Given the description of an element on the screen output the (x, y) to click on. 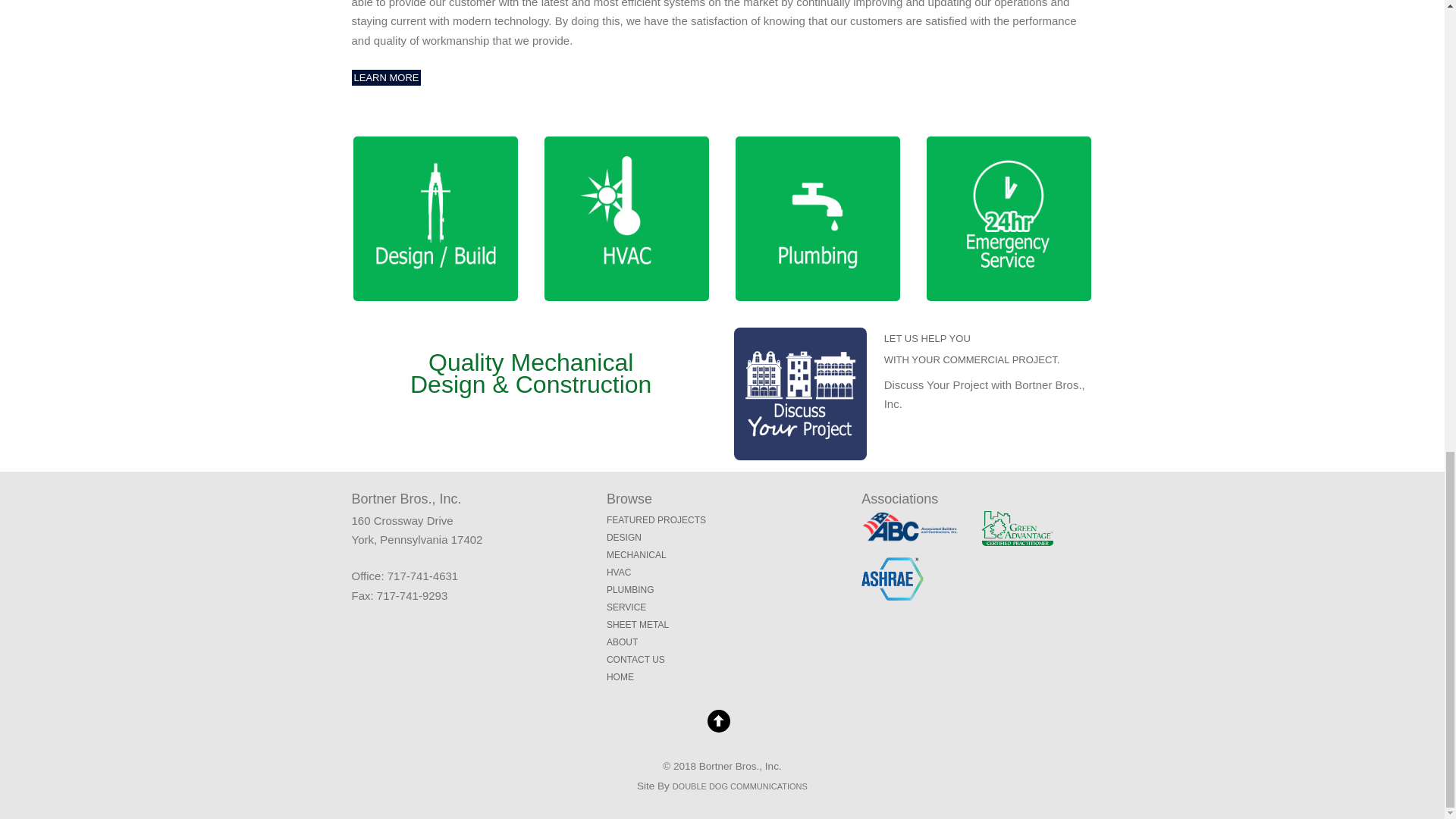
SERVICE (626, 606)
FEATURED PROJECTS (656, 520)
ABOUT (622, 642)
MECHANICAL (971, 349)
CONTACT US (636, 554)
SHEET METAL (636, 659)
DESIGN (637, 624)
LEARN MORE (624, 537)
HOME (387, 77)
